Given the description of an element on the screen output the (x, y) to click on. 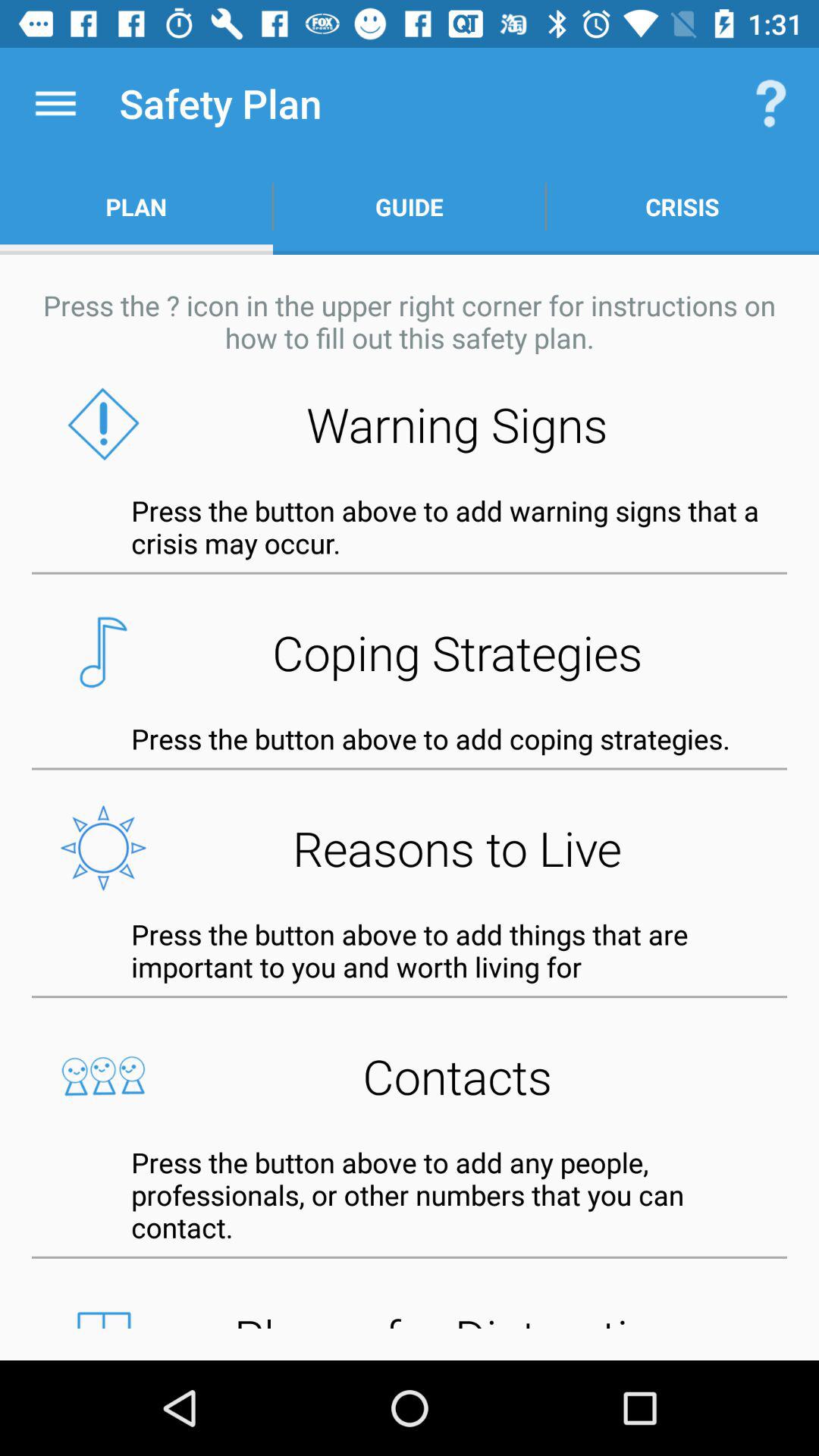
swipe until guide (409, 206)
